Given the description of an element on the screen output the (x, y) to click on. 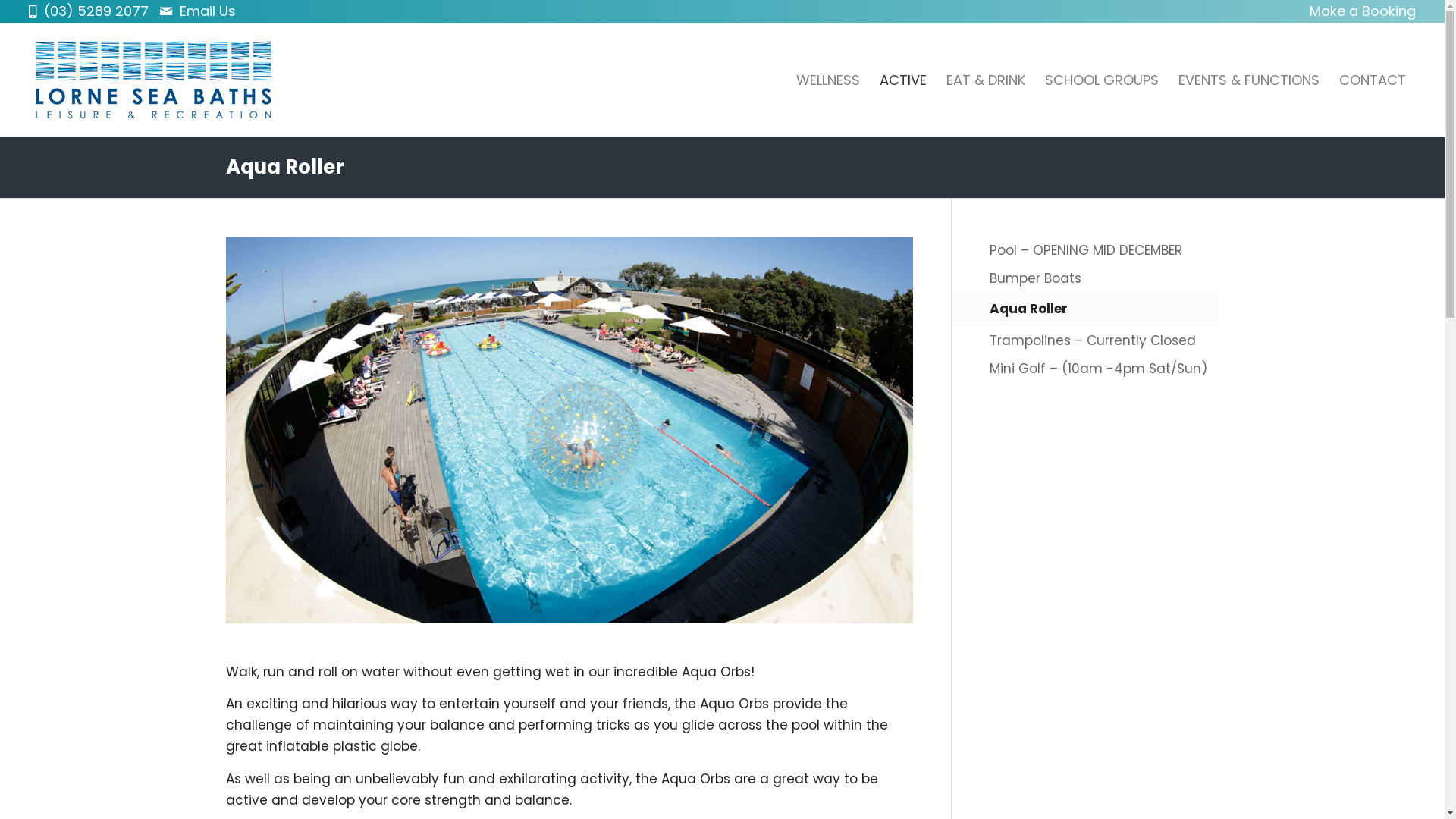
(03) 5289 2077 Element type: text (99, 10)
ACTIVE Element type: text (902, 79)
Bumper Boats Element type: text (1104, 278)
WELLNESS Element type: text (827, 79)
weblogo Element type: hover (152, 79)
Email Us Element type: text (207, 10)
EVENTS & FUNCTIONS Element type: text (1248, 79)
SCHOOL GROUPS Element type: text (1101, 79)
EAT & DRINK Element type: text (985, 79)
slider-placeholder-2 Element type: hover (569, 429)
Aqua Roller Element type: text (284, 166)
Aqua Roller Element type: text (1104, 308)
CONTACT Element type: text (1372, 79)
